Given the description of an element on the screen output the (x, y) to click on. 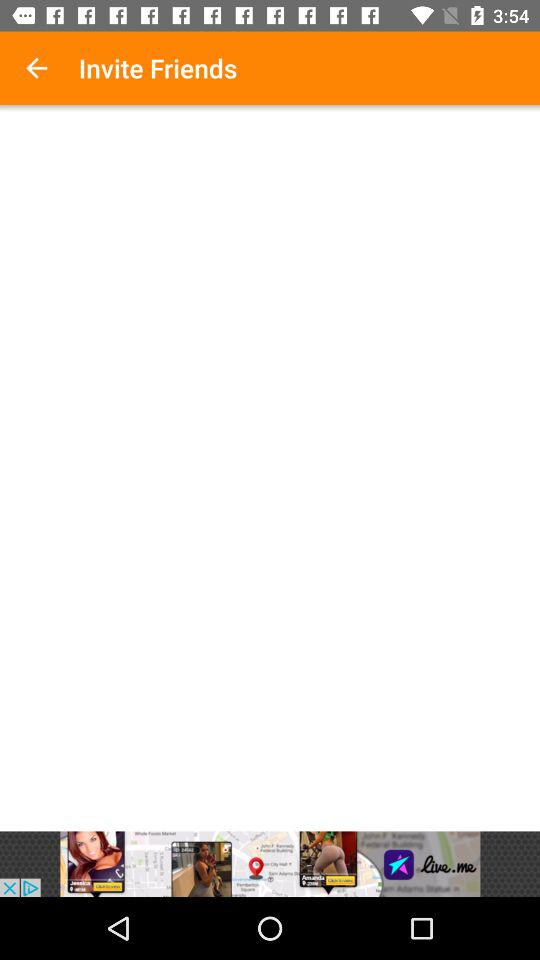
page option (270, 471)
